Given the description of an element on the screen output the (x, y) to click on. 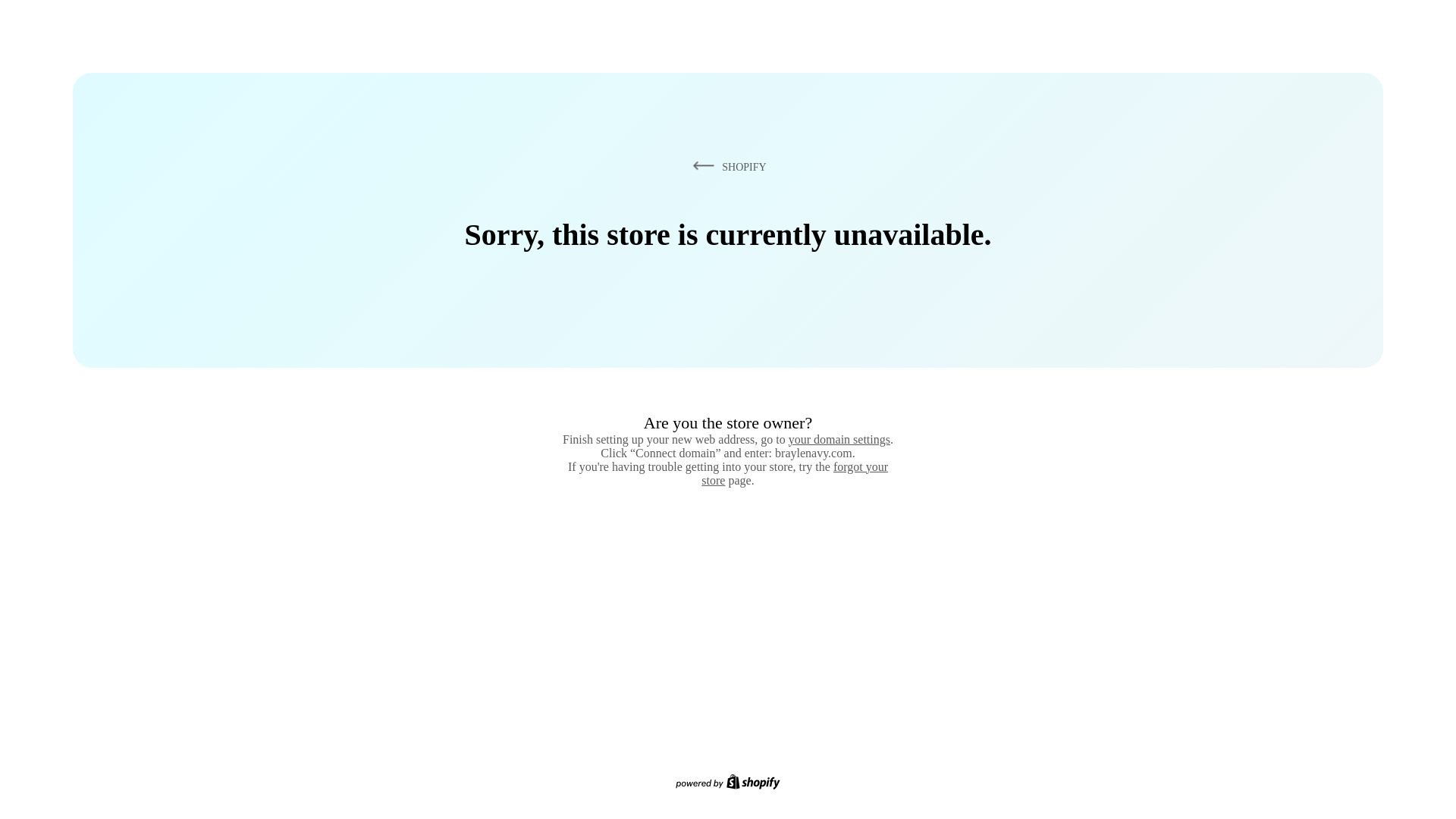
SHOPIFY (726, 166)
your domain settings (839, 439)
forgot your store (794, 473)
